Given the description of an element on the screen output the (x, y) to click on. 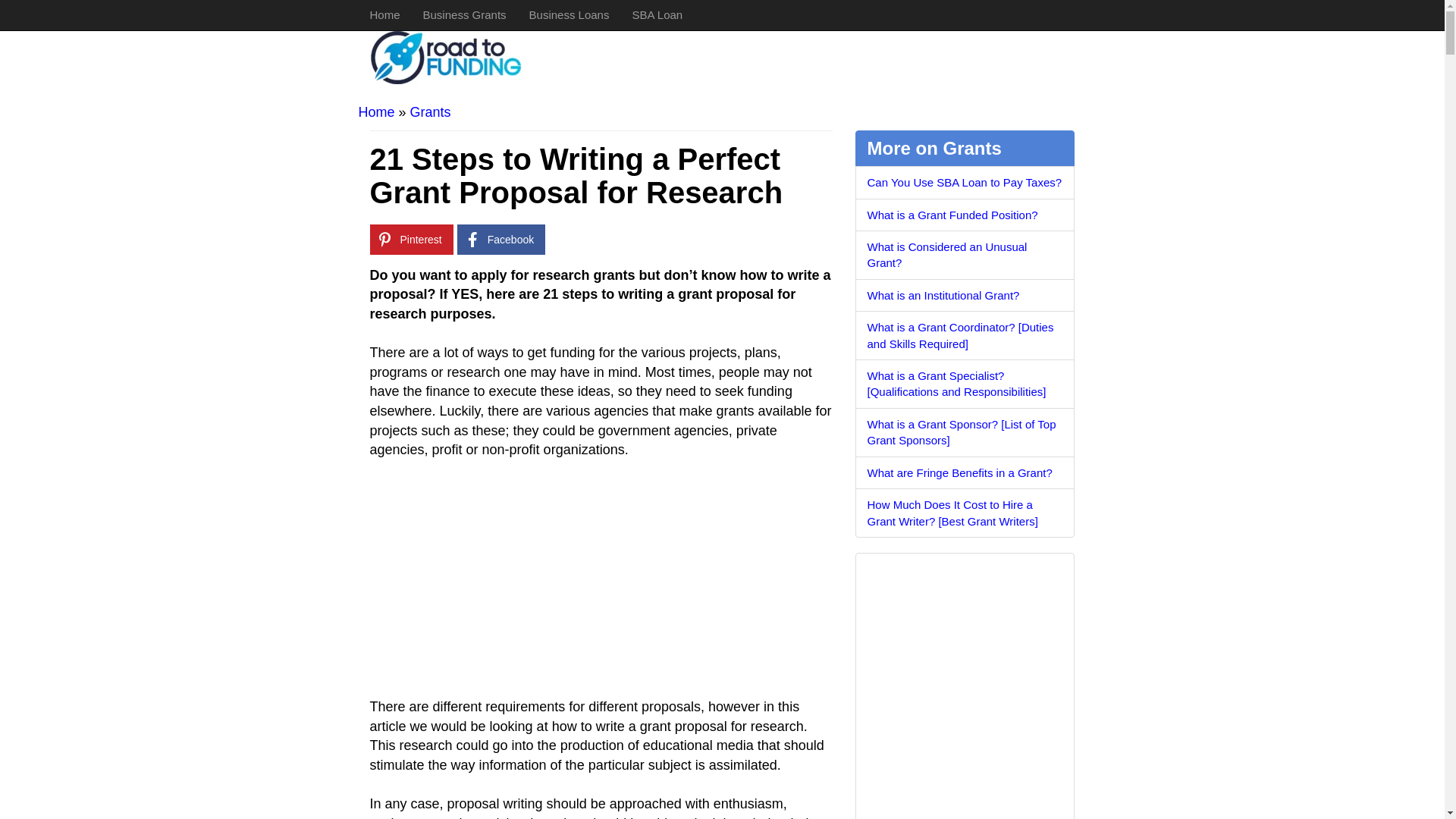
 What are Fringe Benefits in a Grant? (965, 472)
Home (384, 15)
Business Grants (465, 15)
What is a Grant Funded Position? (965, 214)
 Can You Use SBA Loan to Pay Taxes? (965, 182)
Business Loans (569, 15)
What is an Institutional Grant? (965, 295)
RoadtoFunding (584, 50)
Home (376, 111)
 What is an Institutional Grant? (965, 295)
What is Considered an Unusual Grant? (965, 255)
Advertisement (600, 585)
Pinterest (410, 239)
 What is Considered an Unusual Grant? (965, 255)
Grants (430, 111)
